Given the description of an element on the screen output the (x, y) to click on. 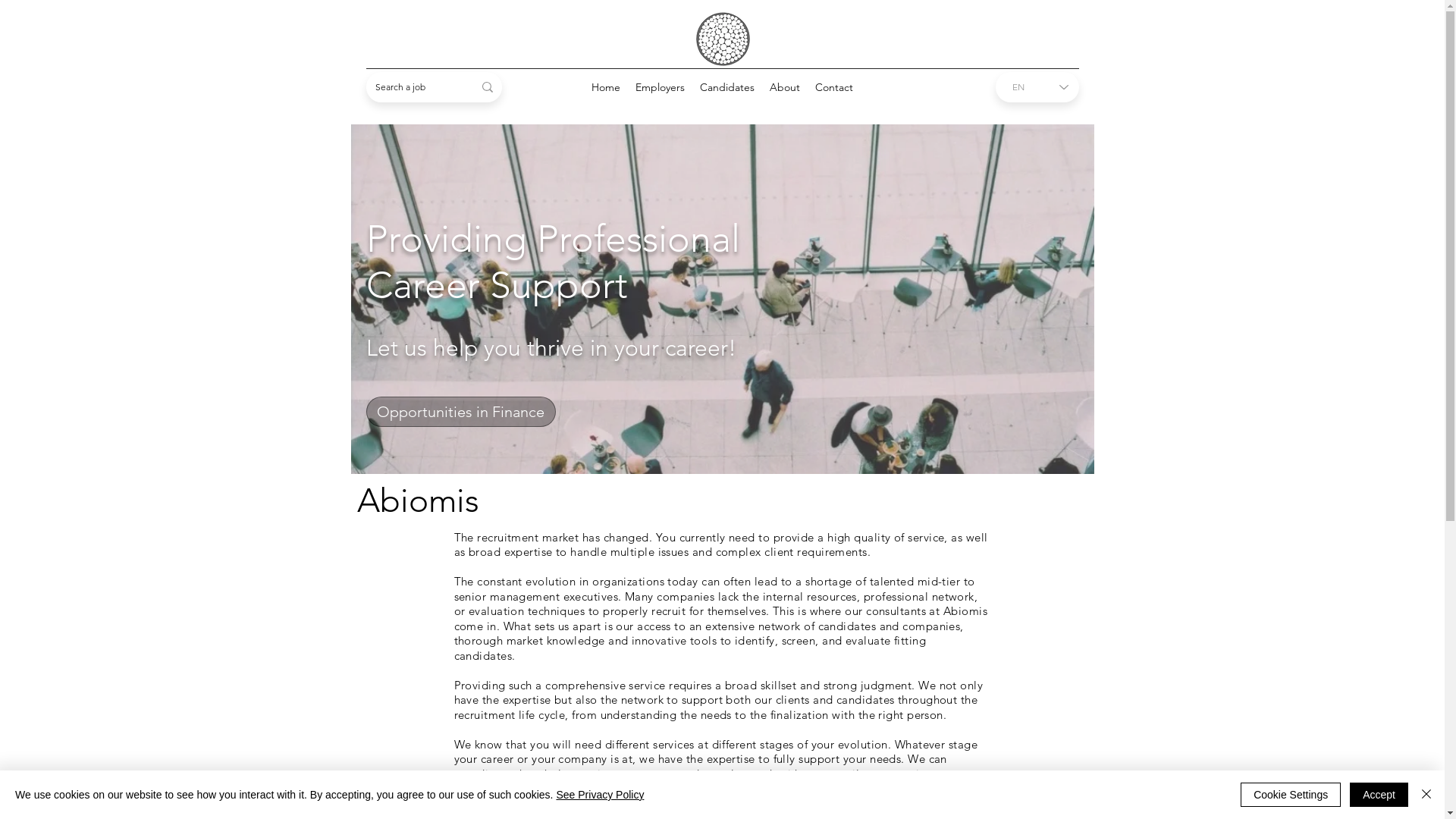
See Privacy Policy Element type: text (599, 794)
Cookie Settings Element type: text (1290, 794)
Opportunities in Finance Element type: text (460, 410)
Home Element type: text (605, 86)
Contact Element type: text (833, 86)
Candidates Element type: text (727, 86)
Employers Element type: text (659, 86)
Accept Element type: text (1378, 794)
About Element type: text (784, 86)
